Given the description of an element on the screen output the (x, y) to click on. 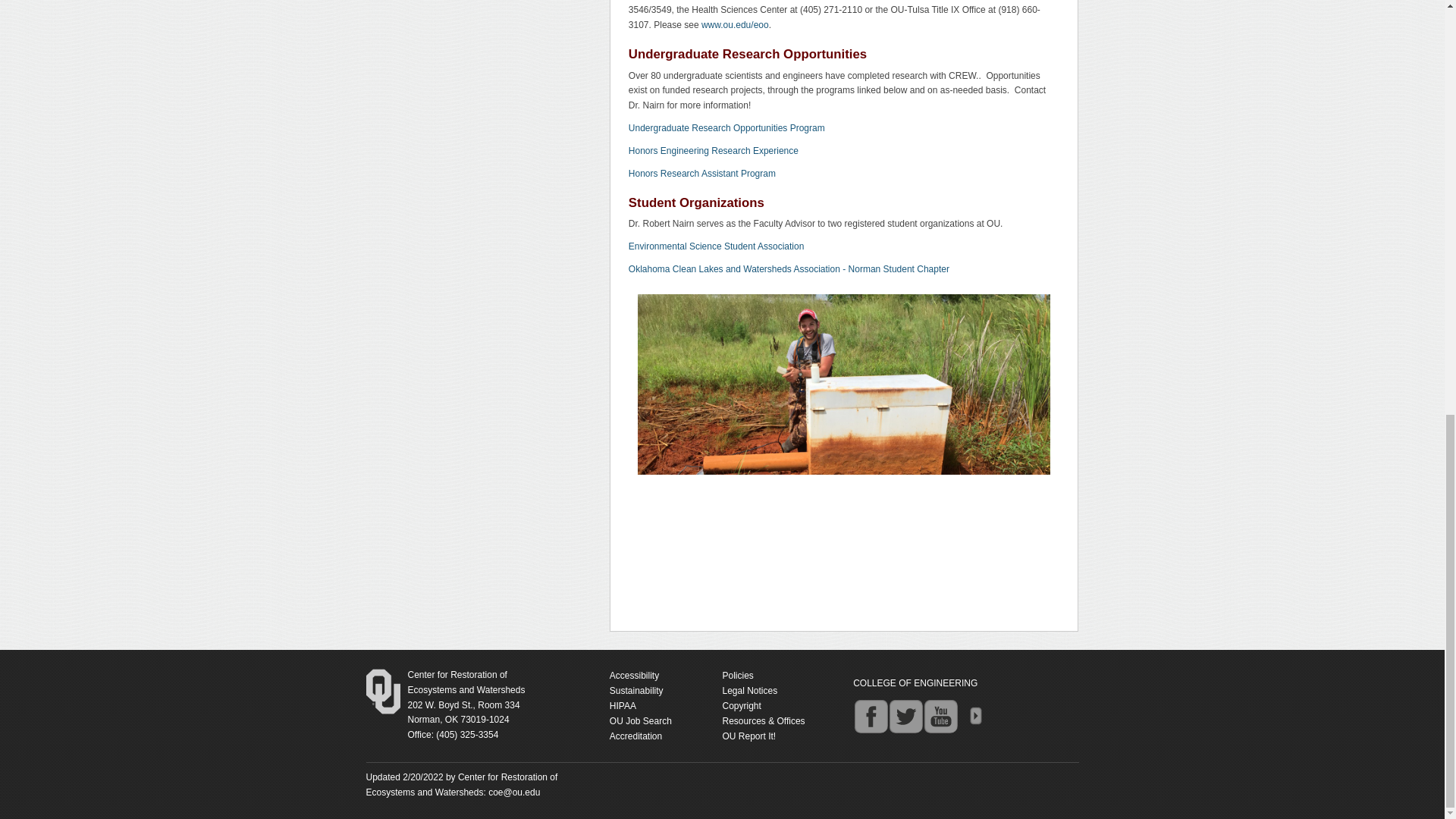
OU Job Search (640, 720)
Accreditation (636, 736)
Legal Notices (749, 690)
more (975, 715)
OU Report It! (466, 682)
Environmental Science Student Association (749, 736)
HIPAA (715, 245)
Go to the University of Oklahoma's YouTube account (623, 706)
